Given the description of an element on the screen output the (x, y) to click on. 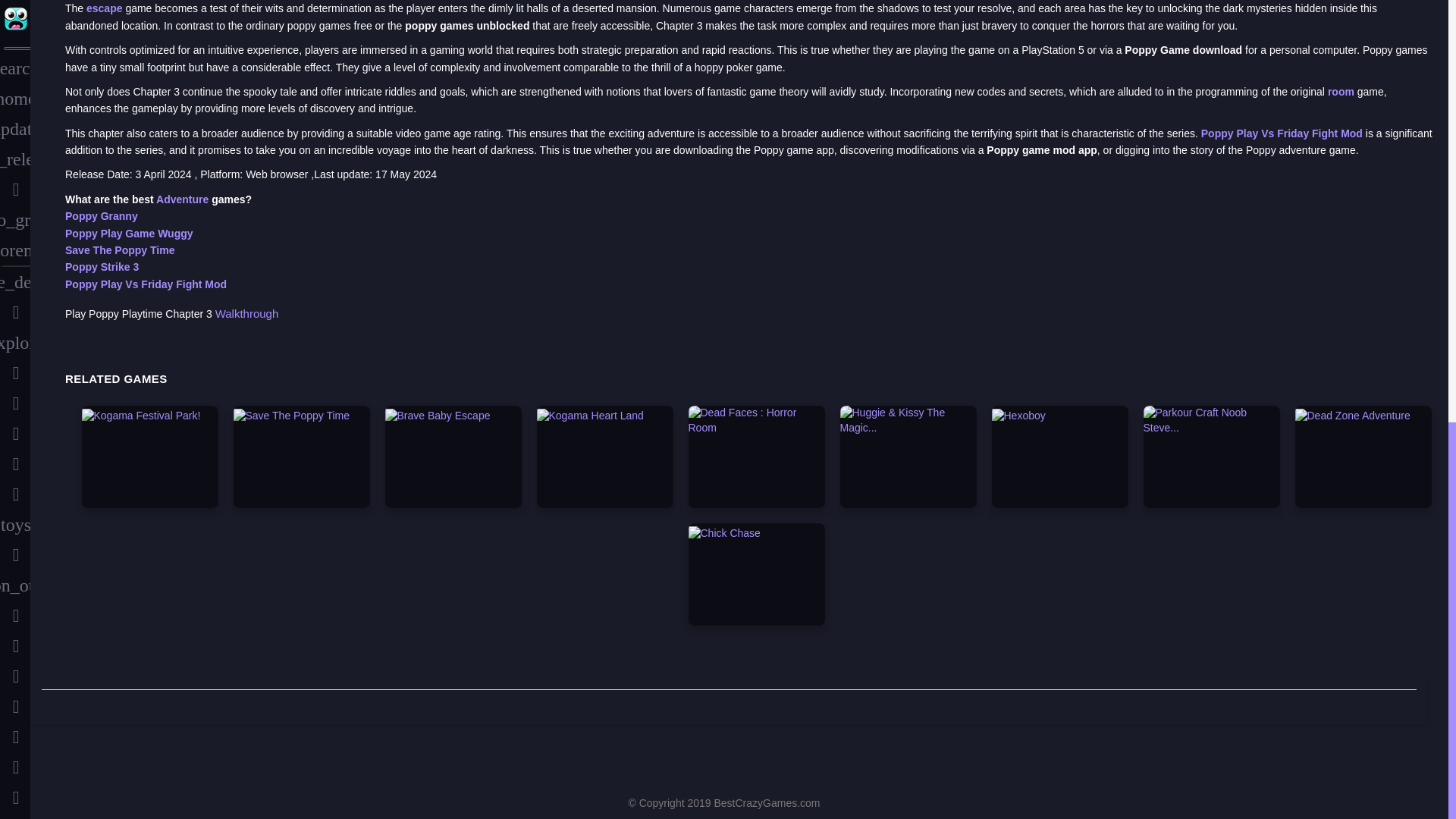
tag (15, 320)
motorcycle (15, 258)
fort (15, 106)
